Given the description of an element on the screen output the (x, y) to click on. 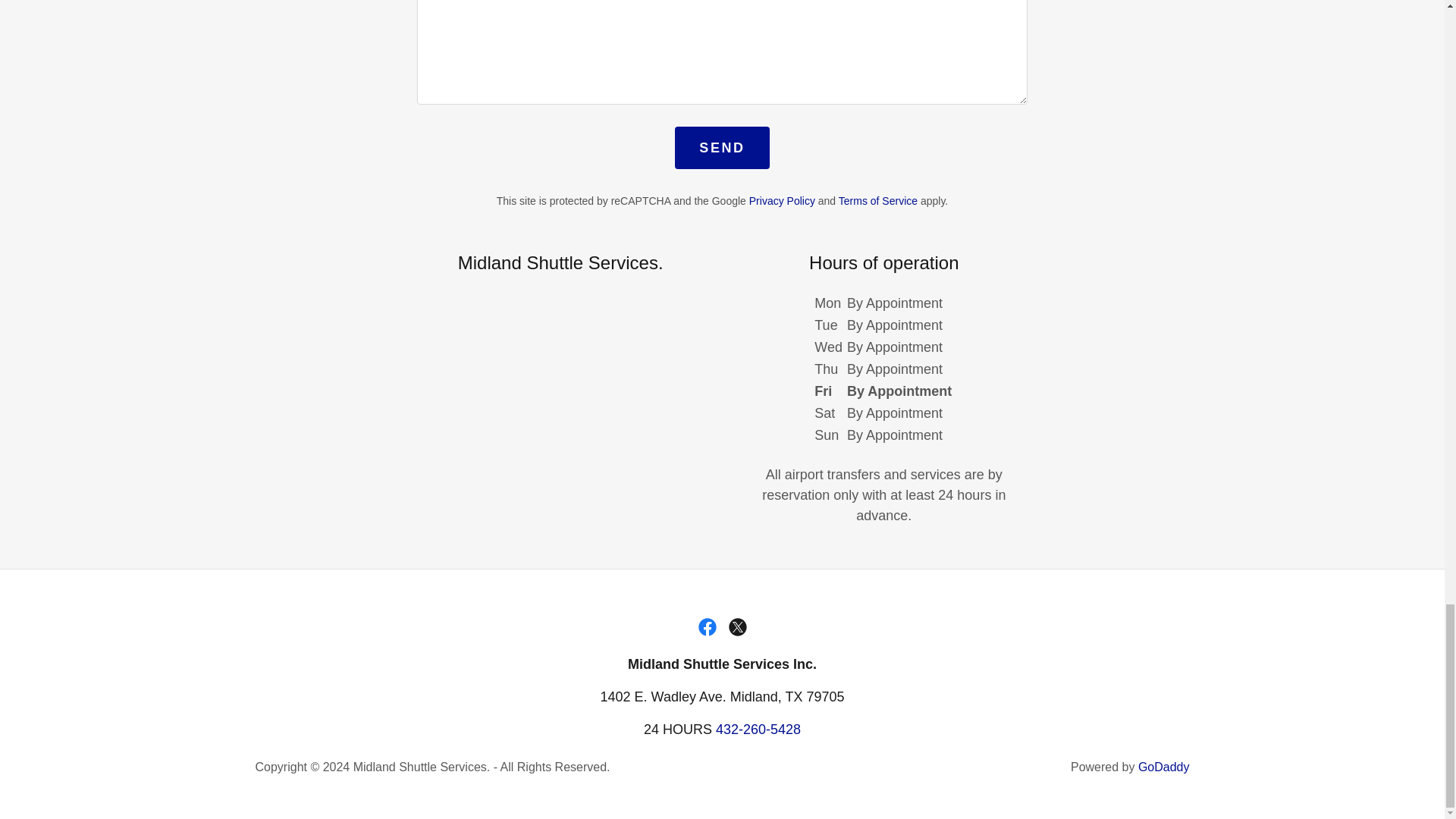
GoDaddy (1163, 766)
Privacy Policy (782, 200)
432-260-5428 (758, 729)
SEND (721, 147)
Terms of Service (877, 200)
